Given the description of an element on the screen output the (x, y) to click on. 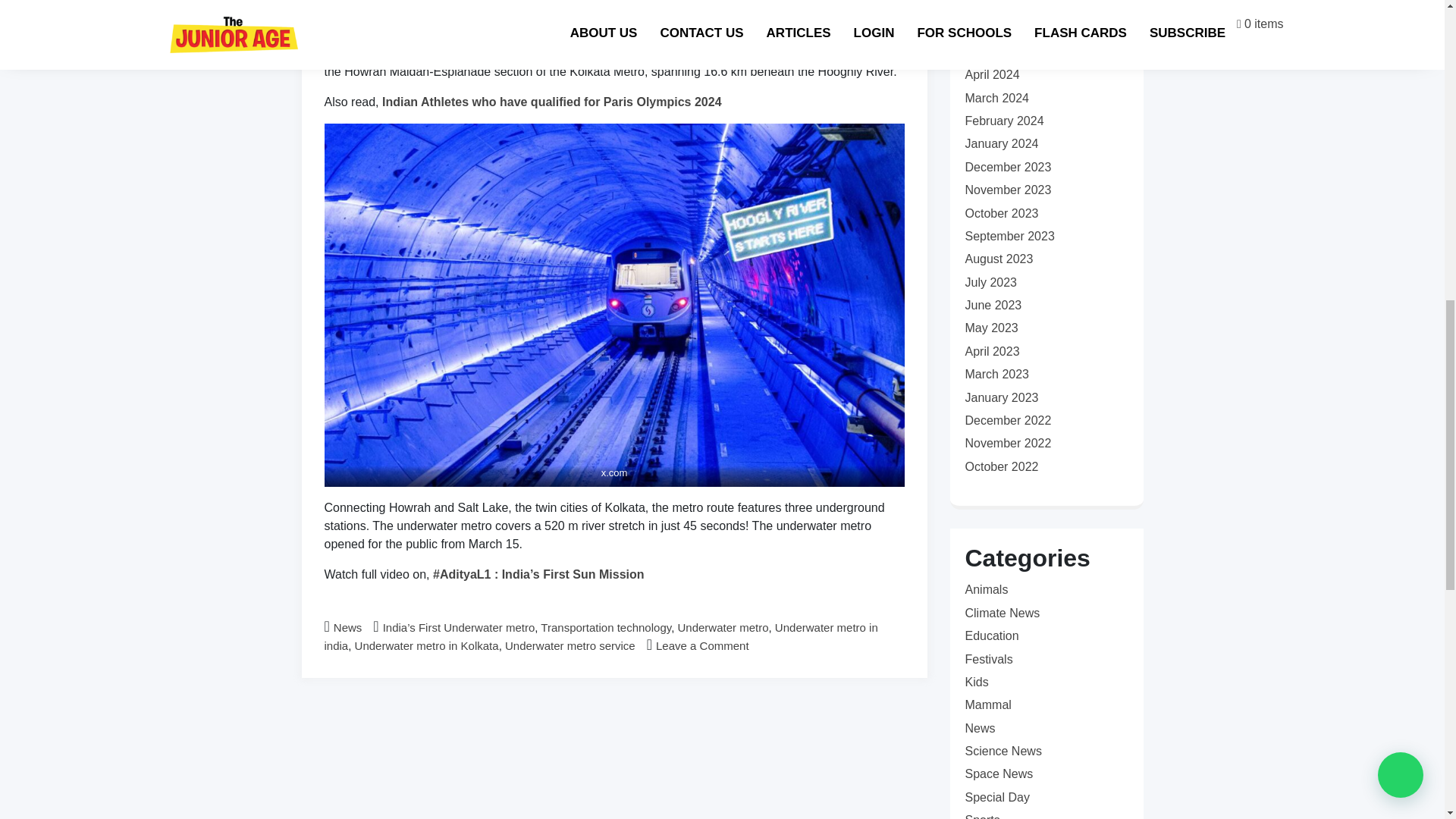
Leave a Comment (702, 645)
Underwater metro in Kolkata (427, 645)
News (347, 626)
Underwater metro in india (600, 635)
Underwater metro service (569, 645)
Transportation technology (605, 626)
Underwater metro (722, 626)
Indian Athletes who have qualified for Paris Olympics 2024 (551, 101)
